Given the description of an element on the screen output the (x, y) to click on. 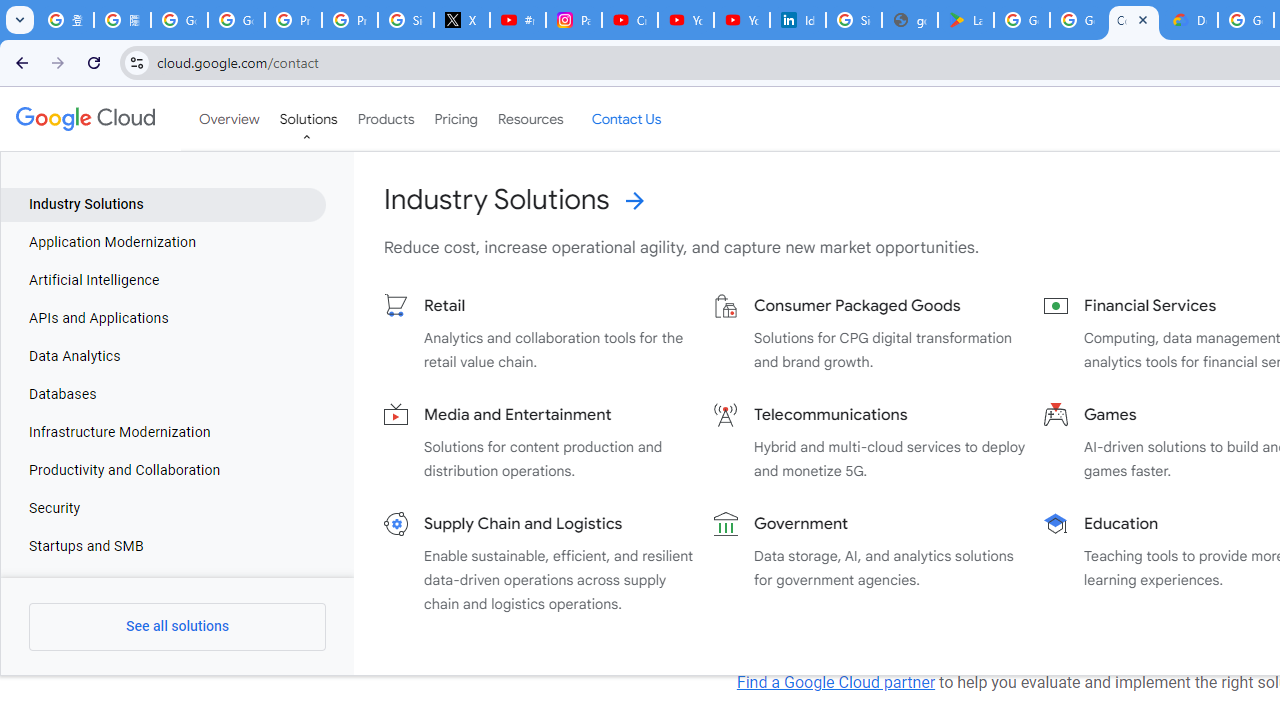
X (461, 20)
Contact Us (626, 119)
#nbabasketballhighlights - YouTube (518, 20)
Pricing (455, 119)
Productivity and Collaboration (163, 471)
Artificial Intelligence (163, 281)
Google Cloud (84, 118)
